Given the description of an element on the screen output the (x, y) to click on. 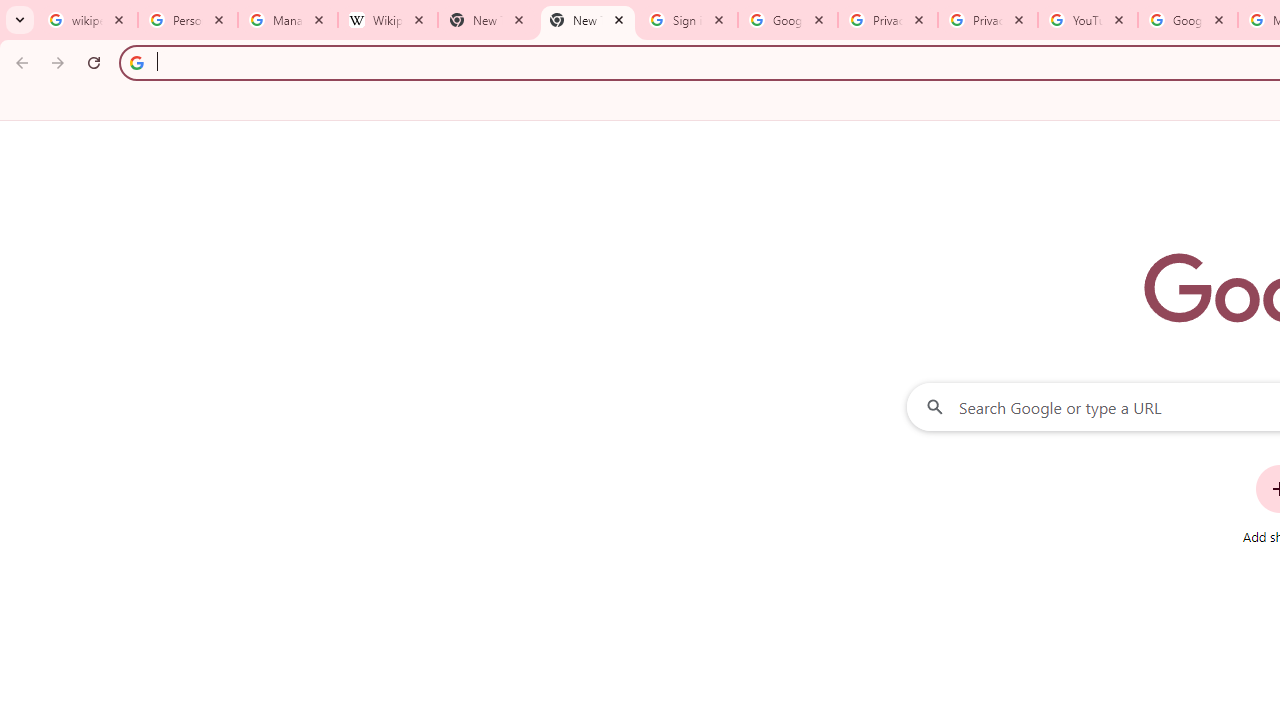
New Tab (587, 20)
YouTube (1087, 20)
Wikipedia:Edit requests - Wikipedia (387, 20)
Google Account Help (1187, 20)
Personalization & Google Search results - Google Search Help (188, 20)
Manage your Location History - Google Search Help (287, 20)
Search icon (136, 62)
Google Drive: Sign-in (788, 20)
